Given the description of an element on the screen output the (x, y) to click on. 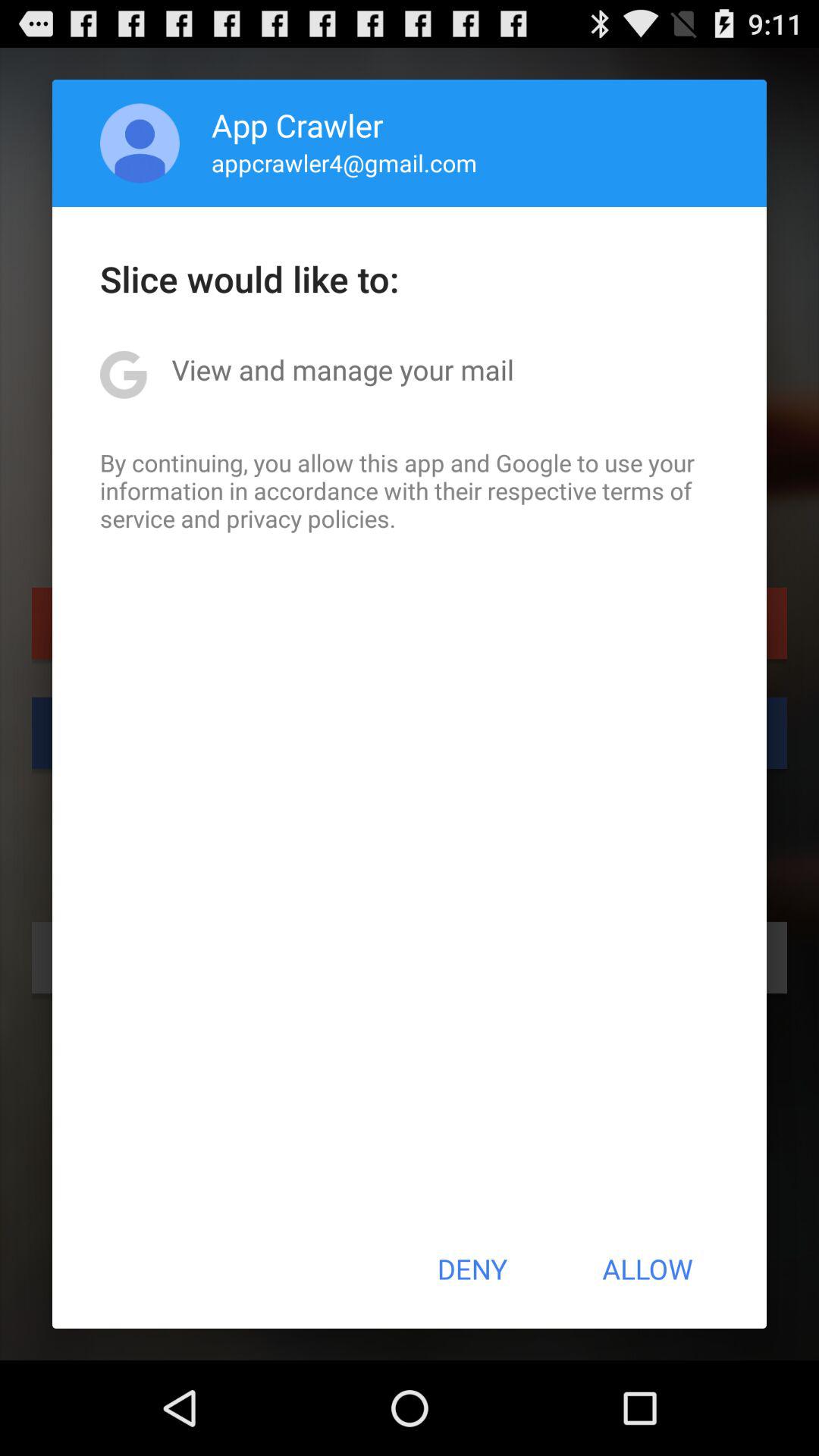
tap the deny icon (471, 1268)
